Given the description of an element on the screen output the (x, y) to click on. 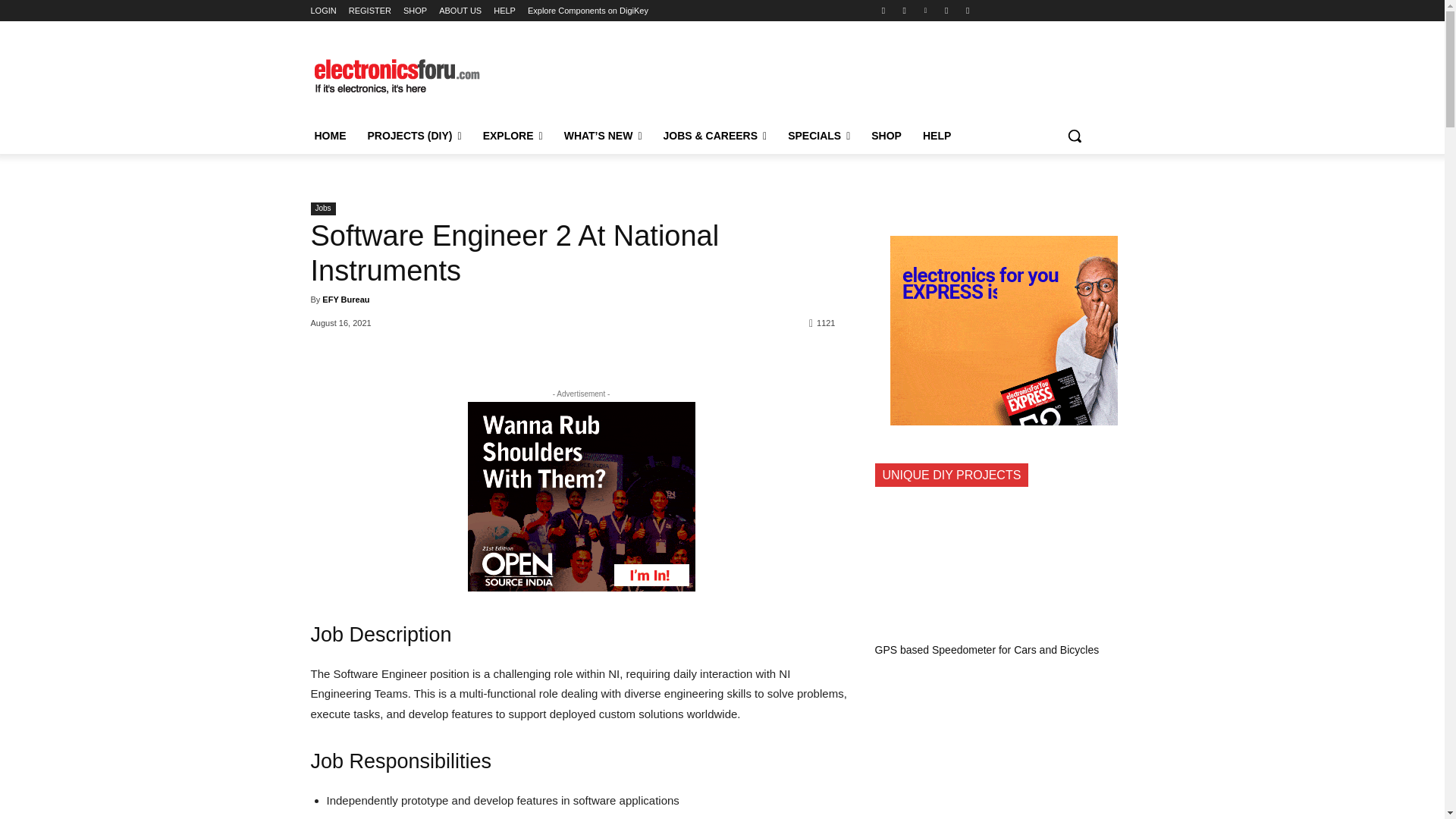
Facebook (883, 9)
Linkedin (925, 9)
Youtube (967, 9)
Instagram (903, 9)
Twitter (946, 9)
